Given the description of an element on the screen output the (x, y) to click on. 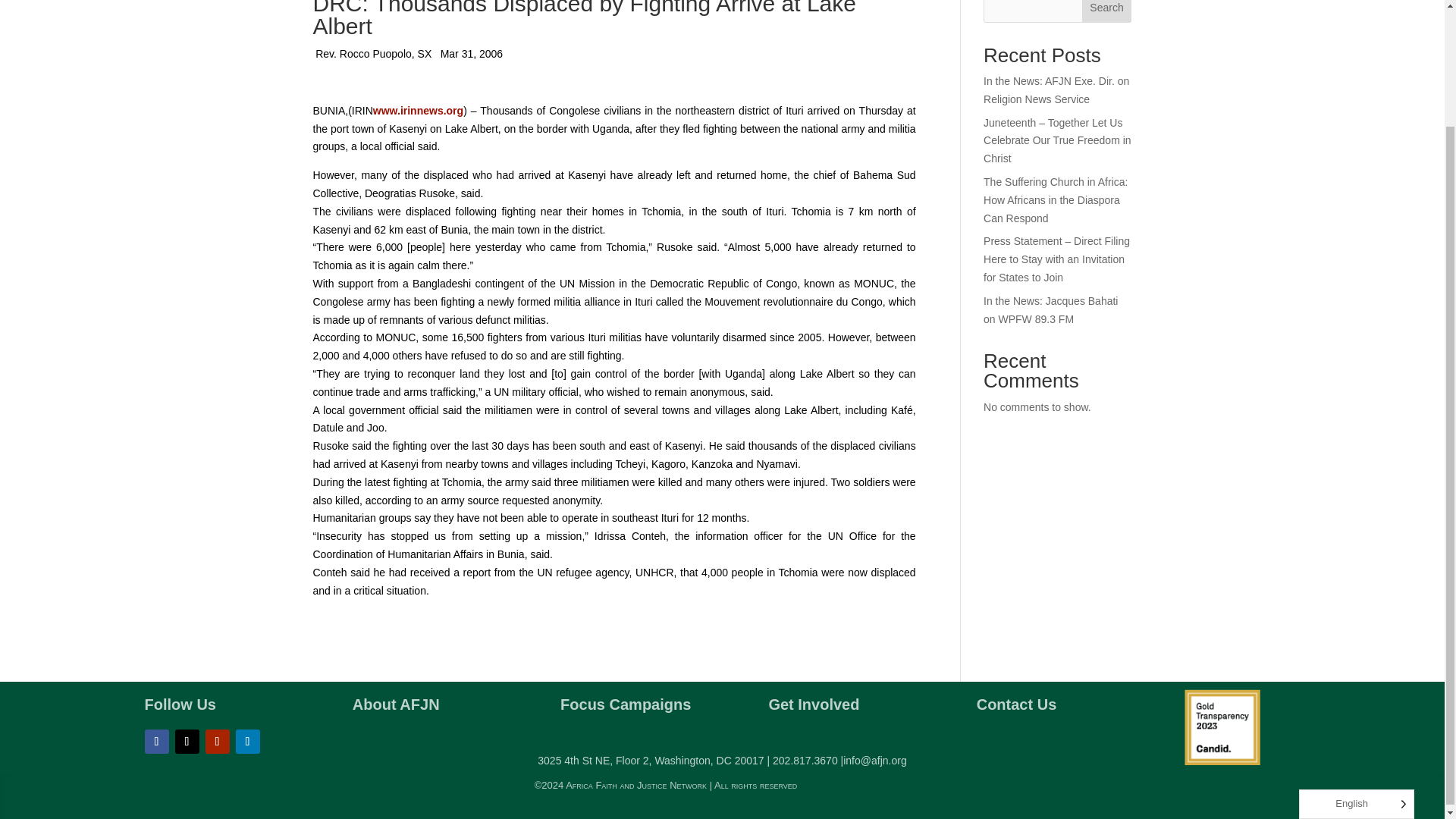
Follow on LinkedIn (246, 741)
Search (1106, 11)
candid-seal-gold-2023 (1222, 726)
Posts by Rev. Rocco Puopolo, SX (372, 54)
Follow on X (186, 741)
Follow on Facebook (156, 741)
In the News: AFJN Exe. Dir. on Religion News Service (1056, 90)
Follow on Youtube (216, 741)
www.irinnews.org (417, 110)
Rev. Rocco Puopolo, SX (372, 54)
